Given the description of an element on the screen output the (x, y) to click on. 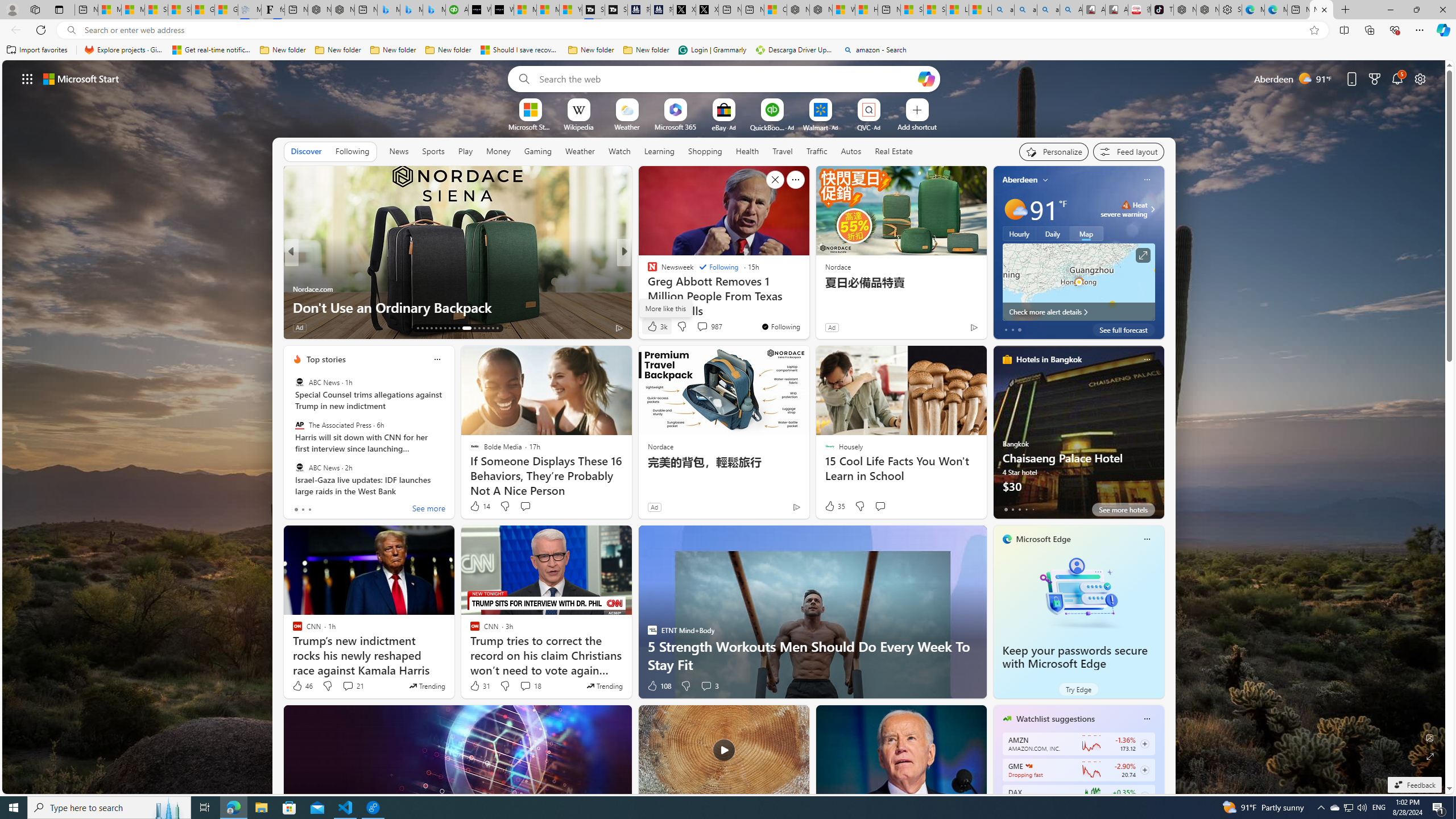
AutomationID: tab-21 (454, 328)
See full forecast (1123, 329)
AutomationID: tab-26 (483, 328)
Weather (579, 151)
Shopping (705, 151)
Heat - Severe (1126, 204)
App bar (728, 29)
Mostly sunny (1014, 208)
Hotels in Bangkok (1048, 359)
You're following The Weather Channel (949, 329)
Following (718, 266)
View comments 21 Comment (352, 685)
Wildlife - MSN (843, 9)
